Given the description of an element on the screen output the (x, y) to click on. 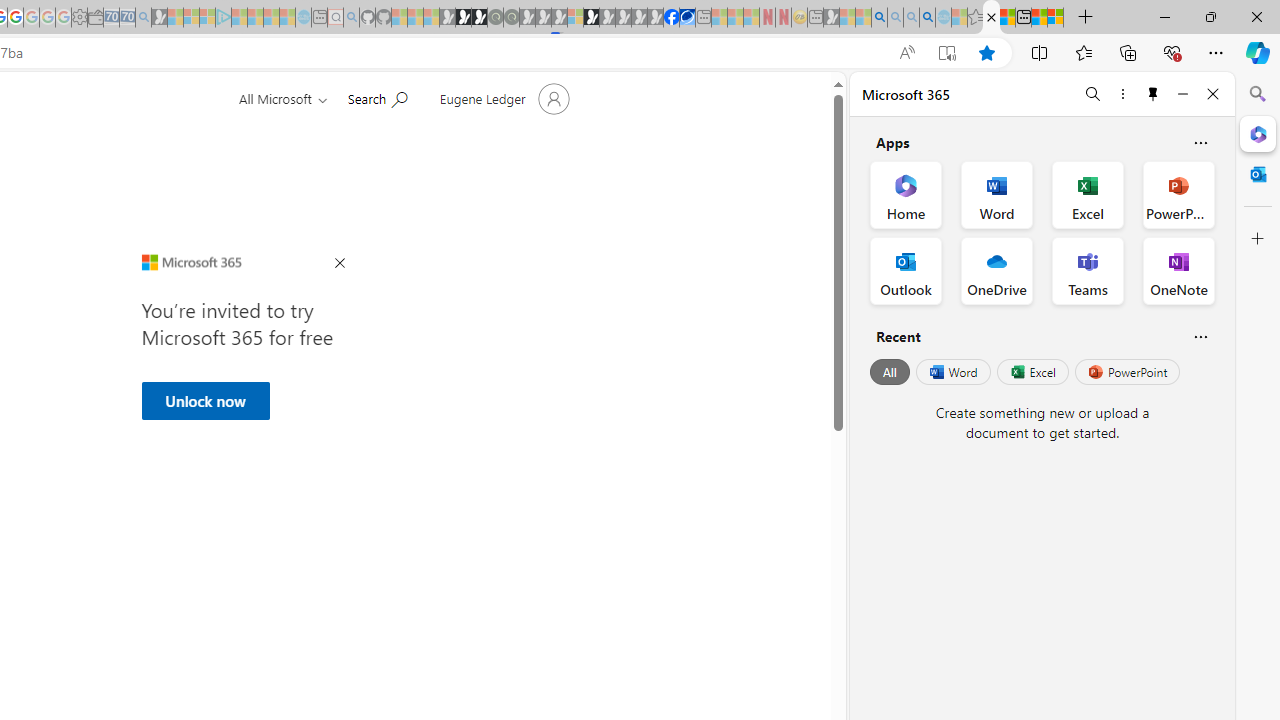
Aberdeen, Hong Kong SAR weather forecast | Microsoft Weather (1007, 17)
Teams Office App (1087, 270)
OneNote Office App (1178, 270)
Home Office App (906, 194)
Google Chrome Internet Browser Download - Search Images (927, 17)
Bing AI - Search (879, 17)
